Given the description of an element on the screen output the (x, y) to click on. 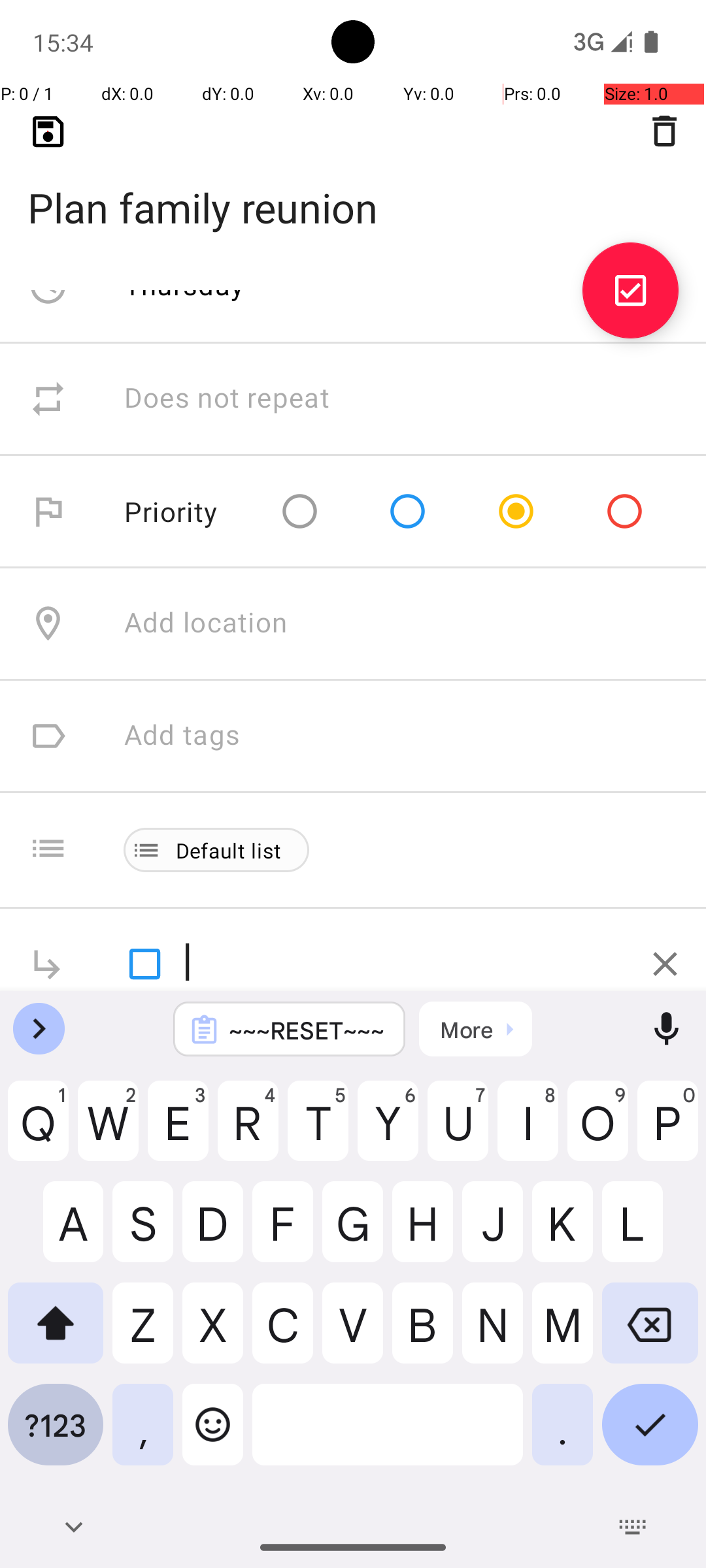
Plan family reunion Element type: android.widget.EditText (353, 186)
